Given the description of an element on the screen output the (x, y) to click on. 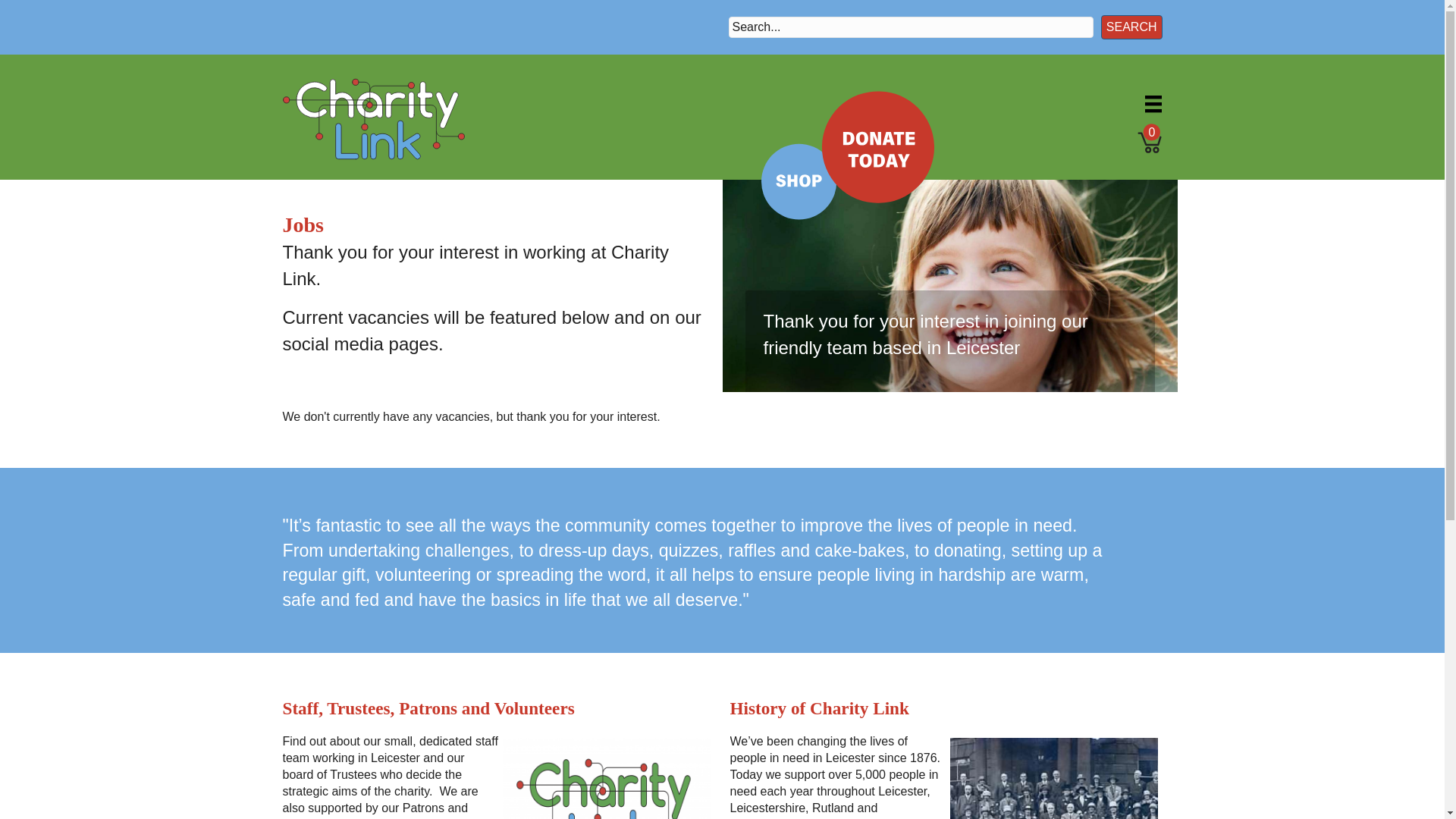
charity-link-logo (373, 118)
History of Charity Link (818, 708)
Staff, Trustees, Patrons and Volunteers (427, 708)
Shop (787, 187)
History of Charity Link (1053, 806)
Staff, Trustees, Patrons and Volunteers (427, 708)
History of Charity Link (818, 708)
SEARCH (1130, 27)
button-header-shop-donate (847, 154)
Staff, Trustees, Patrons and Volunteers (606, 806)
